Given the description of an element on the screen output the (x, y) to click on. 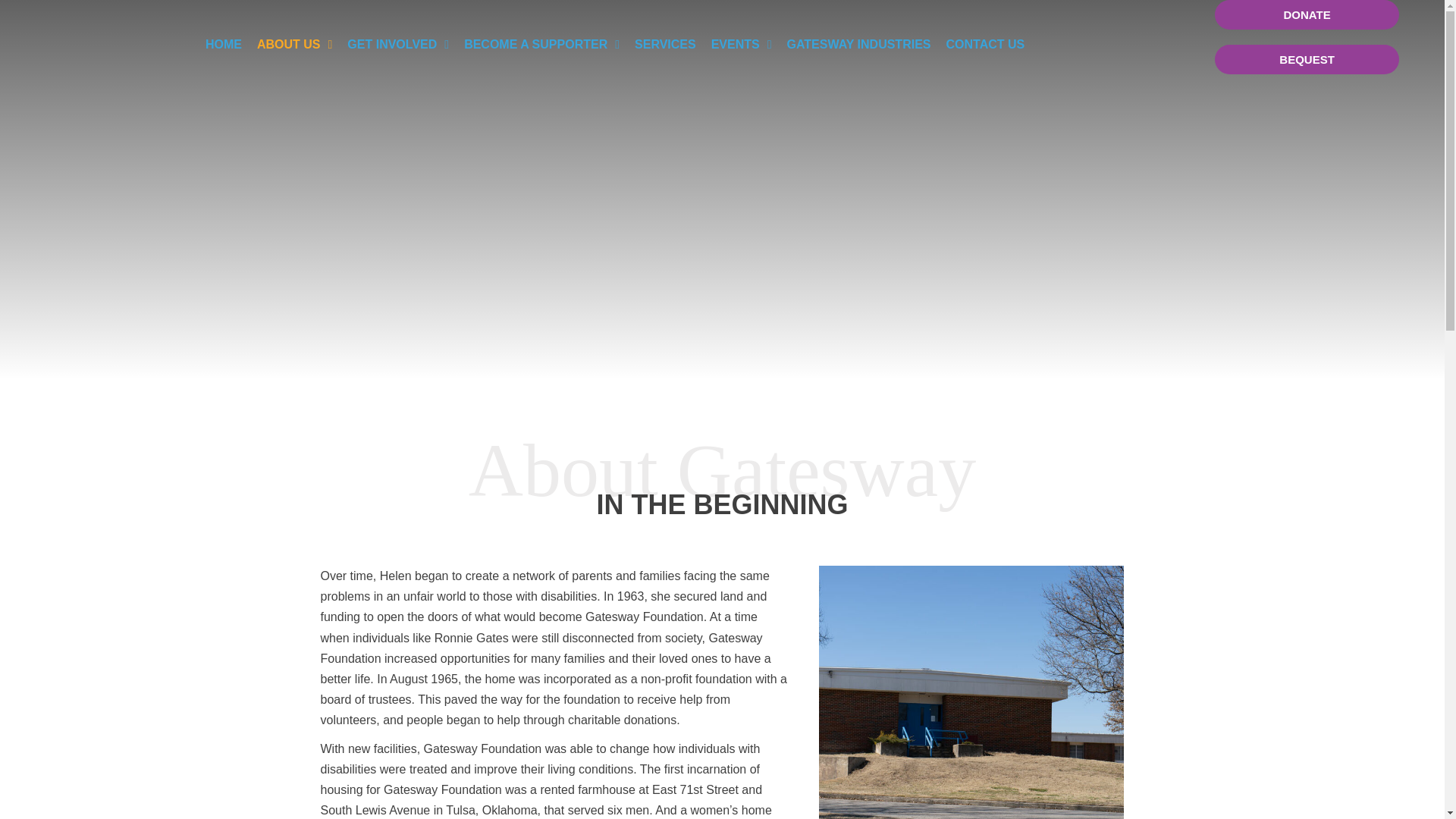
HOME (223, 44)
SERVICES (665, 44)
EVENTS (740, 44)
GET INVOLVED (398, 44)
BECOME A SUPPORTER (542, 44)
Gatesway-Main-Building (971, 692)
ABOUT US (293, 44)
CONTACT US (984, 44)
GATESWAY INDUSTRIES (858, 44)
